Given the description of an element on the screen output the (x, y) to click on. 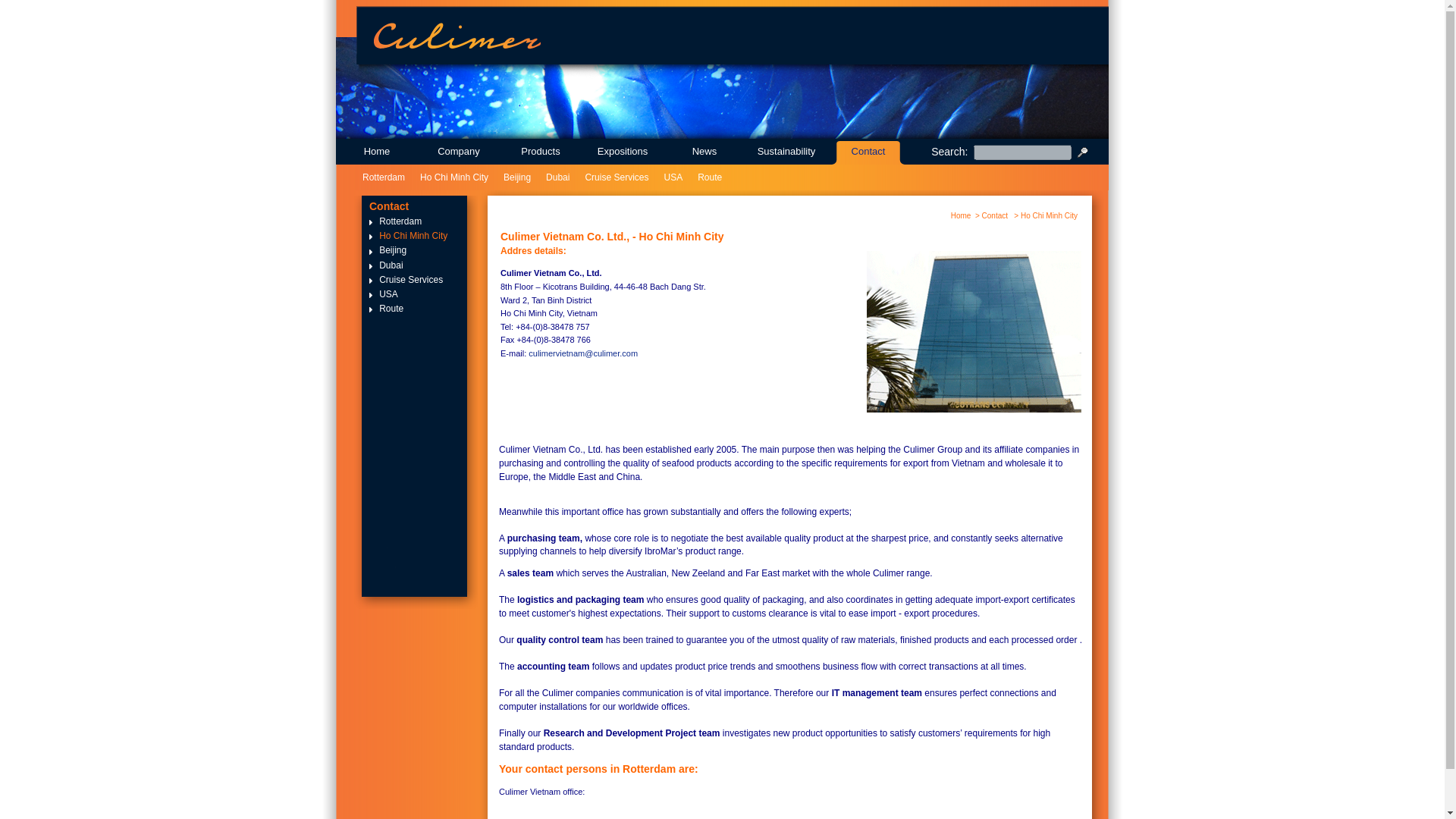
News (704, 151)
Home (376, 151)
Products (539, 151)
Expositions (621, 151)
Company (458, 151)
